Given the description of an element on the screen output the (x, y) to click on. 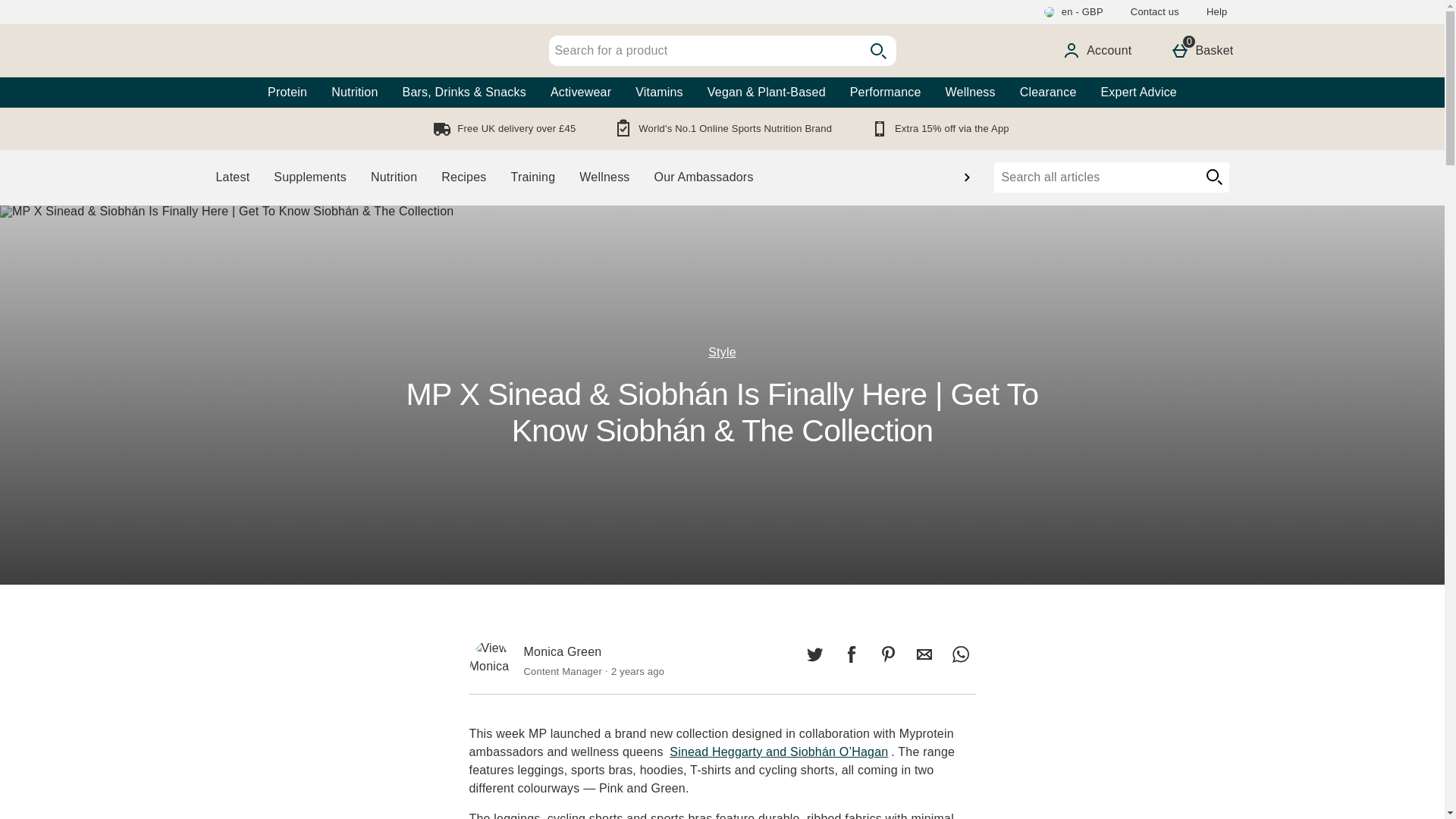
Protein (287, 91)
Share this by Email (923, 654)
start article search (1213, 177)
en - GBP (1072, 12)
Help (1216, 12)
Share this on Twitter (814, 654)
Search Articles (1095, 177)
Search for a product (1201, 50)
Share this on Pinterest (704, 51)
Skip to main content (887, 654)
Share this on WhatsApp (56, 9)
Share this on Facebook (959, 654)
Account (850, 654)
Contact us (1096, 50)
